Given the description of an element on the screen output the (x, y) to click on. 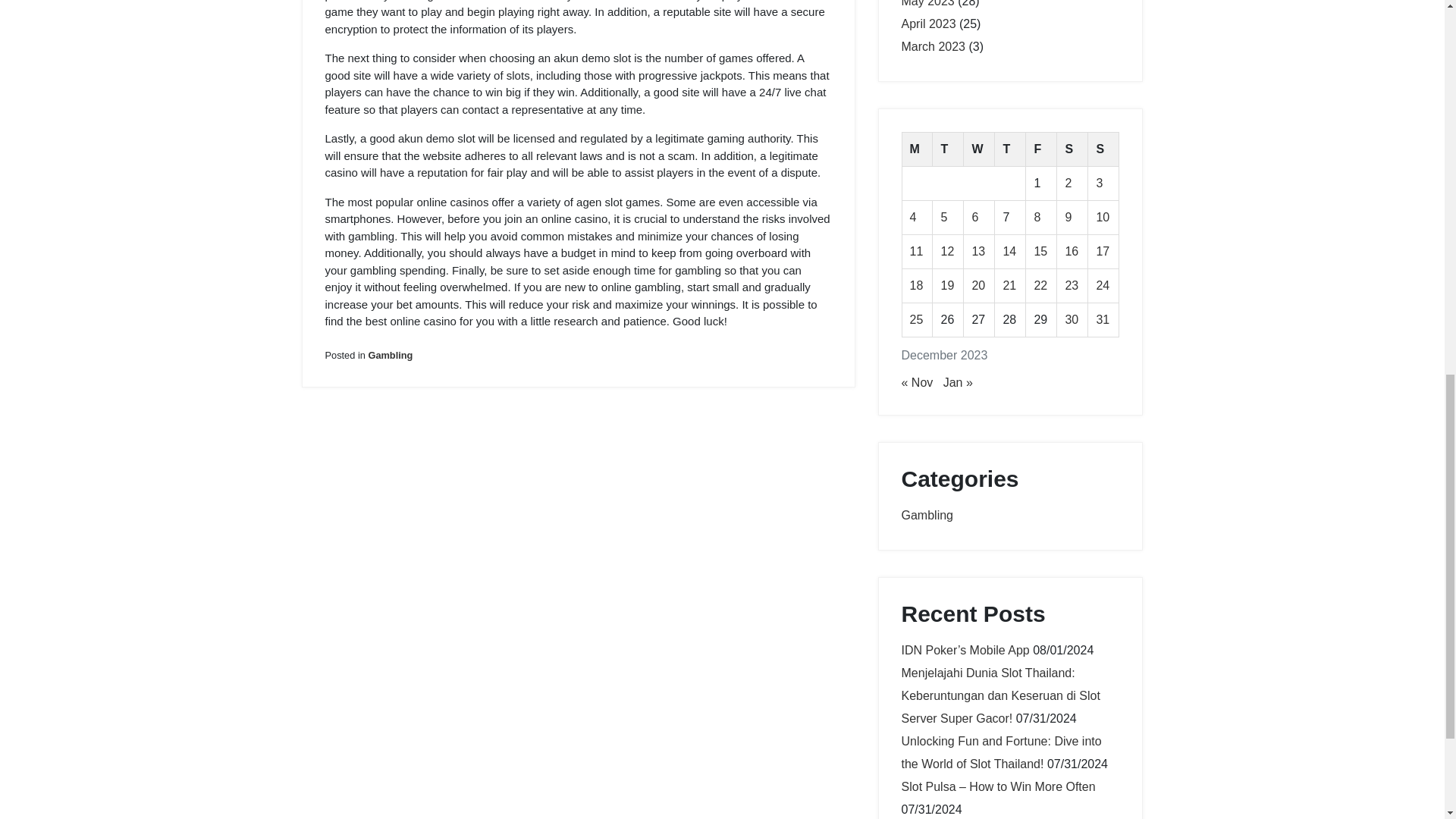
May 2023 (927, 3)
Monday (917, 148)
Sunday (1103, 148)
Friday (1041, 148)
10 (1102, 216)
Gambling (390, 355)
Thursday (1010, 148)
14 (1009, 250)
12 (946, 250)
March 2023 (933, 46)
